Given the description of an element on the screen output the (x, y) to click on. 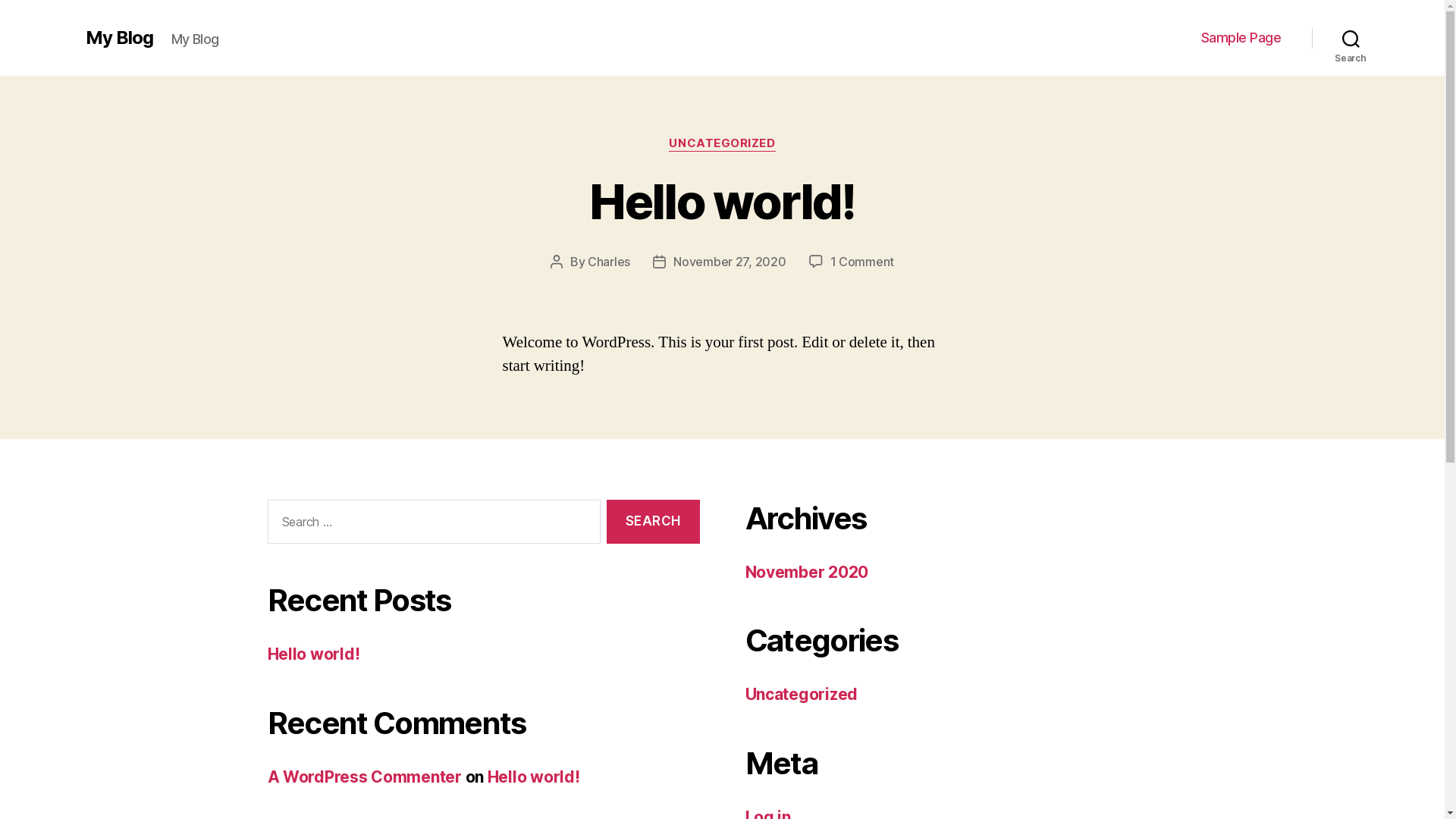
Search Element type: text (652, 521)
Hello world! Element type: text (312, 653)
1 Comment
on Hello world! Element type: text (862, 261)
Hello world! Element type: text (533, 776)
My Blog Element type: text (118, 37)
November 27, 2020 Element type: text (729, 261)
UNCATEGORIZED Element type: text (721, 143)
A WordPress Commenter Element type: text (363, 776)
Search Element type: text (1350, 37)
November 2020 Element type: text (806, 571)
Sample Page Element type: text (1241, 37)
Charles Element type: text (608, 261)
Hello world! Element type: text (721, 201)
Uncategorized Element type: text (800, 693)
